Given the description of an element on the screen output the (x, y) to click on. 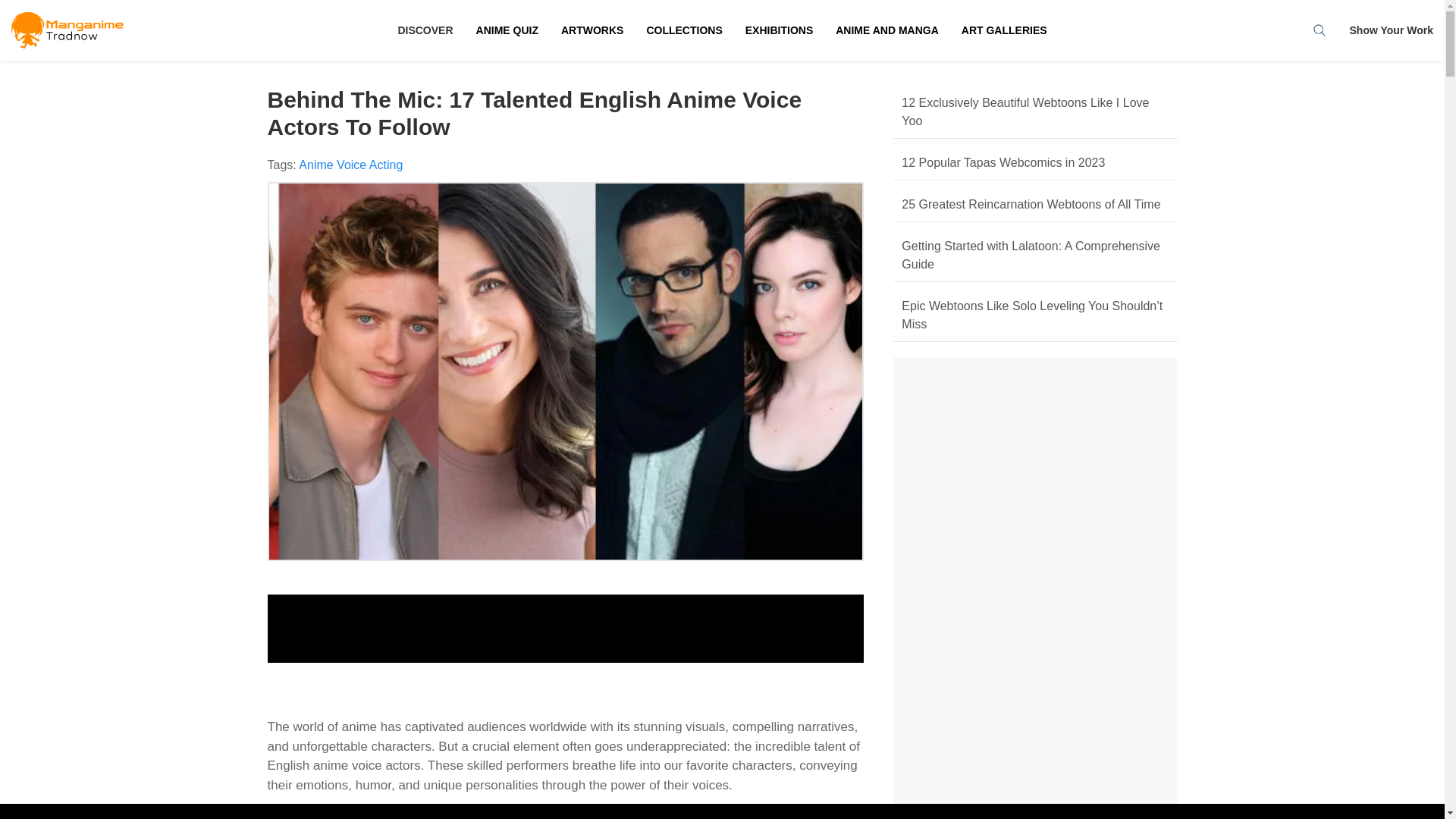
ANIME QUIZ (507, 30)
ART GALLERIES (1004, 30)
ARTWORKS (592, 30)
ANIME AND MANGA (887, 30)
DISCOVER (424, 30)
Anime Voice Acting (350, 164)
COLLECTIONS (683, 30)
EXHIBITIONS (778, 30)
